Given the description of an element on the screen output the (x, y) to click on. 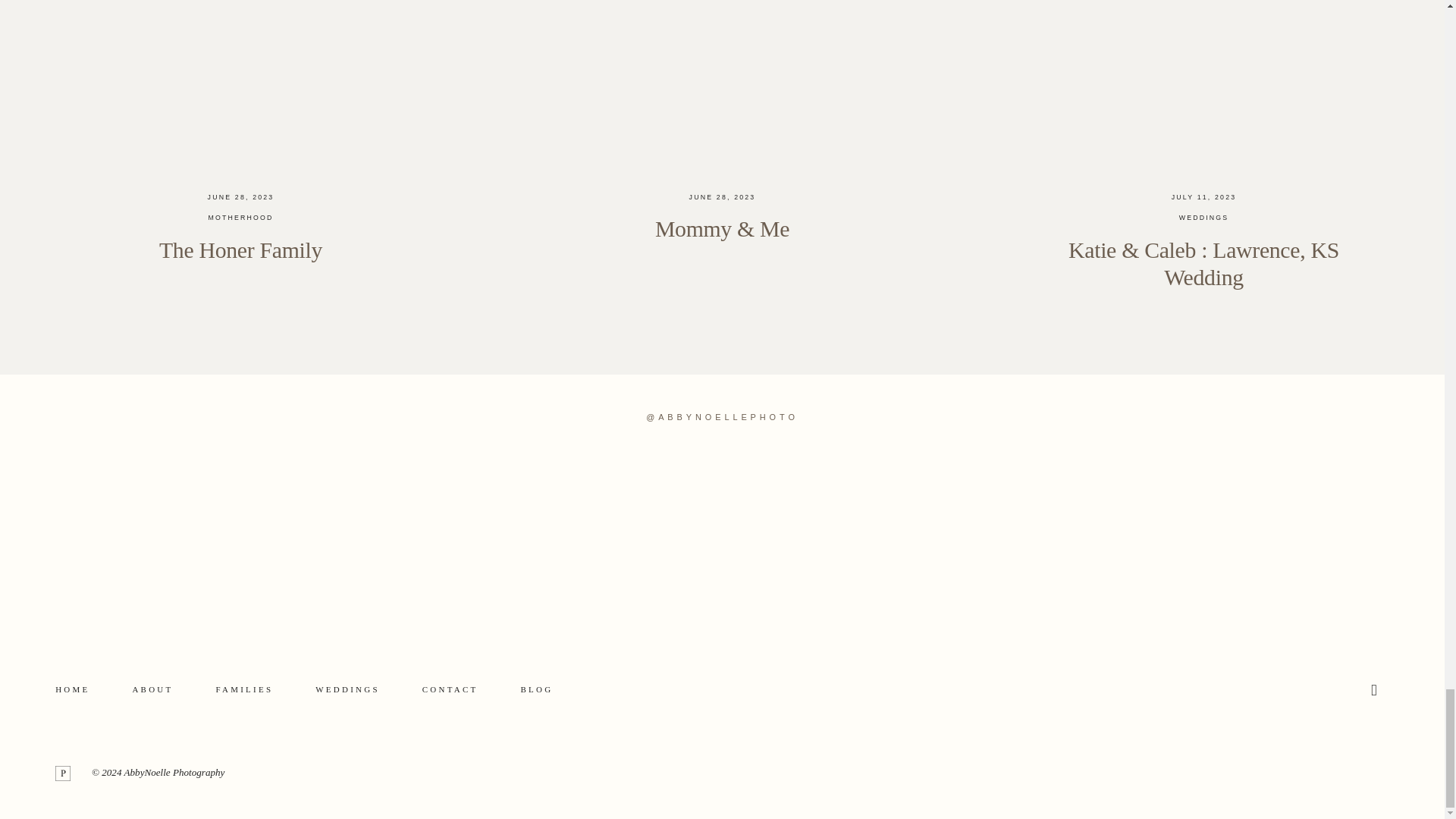
MOTHERHOOD (240, 217)
WEDDINGS (1203, 217)
WEDDINGS (347, 689)
HOME (71, 689)
FAMILIES (244, 689)
ABOUT (152, 689)
